Given the description of an element on the screen output the (x, y) to click on. 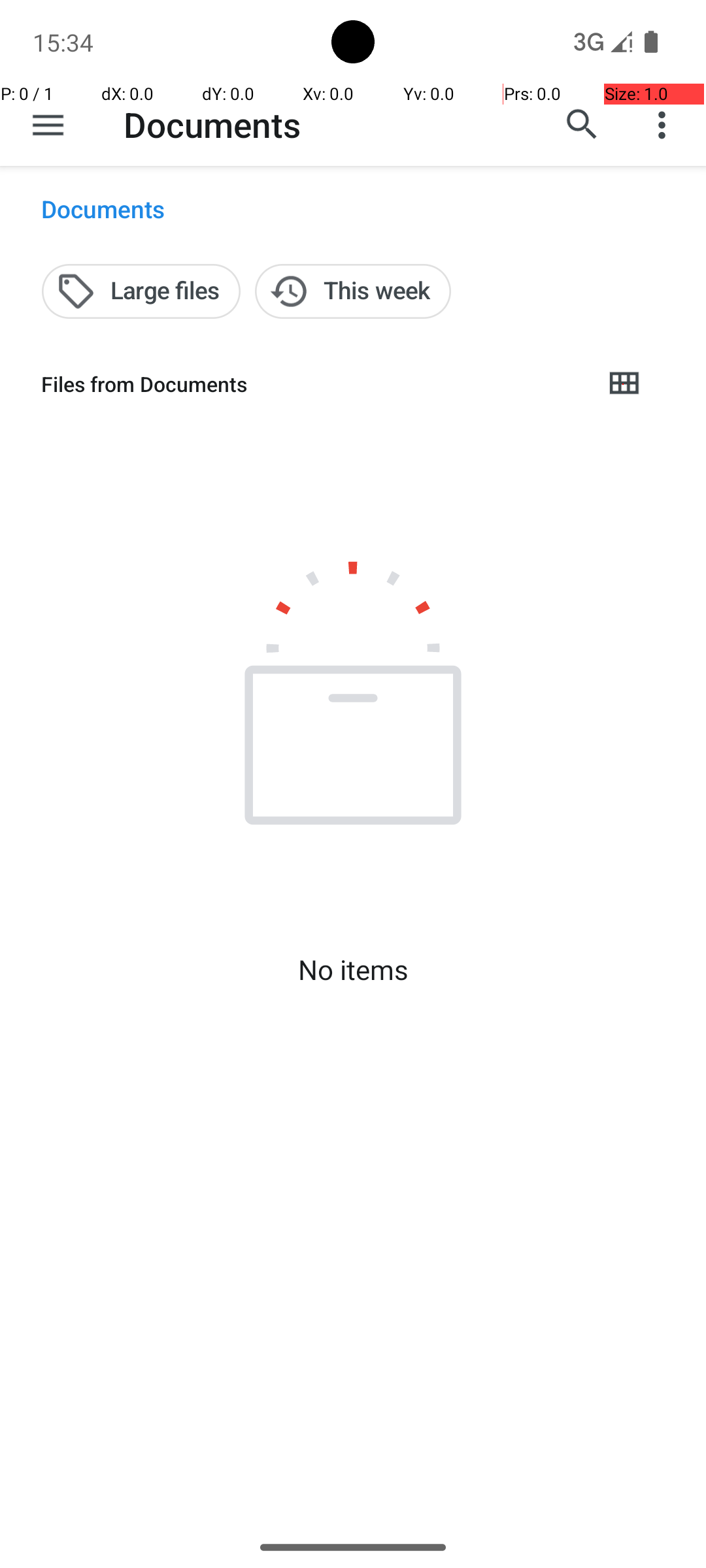
Show roots Element type: android.widget.ImageButton (48, 124)
Documents Element type: android.widget.TextView (211, 124)
Files from Documents Element type: android.widget.TextView (311, 383)
Grid view Element type: android.widget.TextView (622, 384)
Large files Element type: android.widget.CompoundButton (140, 291)
This week Element type: android.widget.CompoundButton (352, 291)
No items Element type: android.widget.TextView (353, 968)
